Given the description of an element on the screen output the (x, y) to click on. 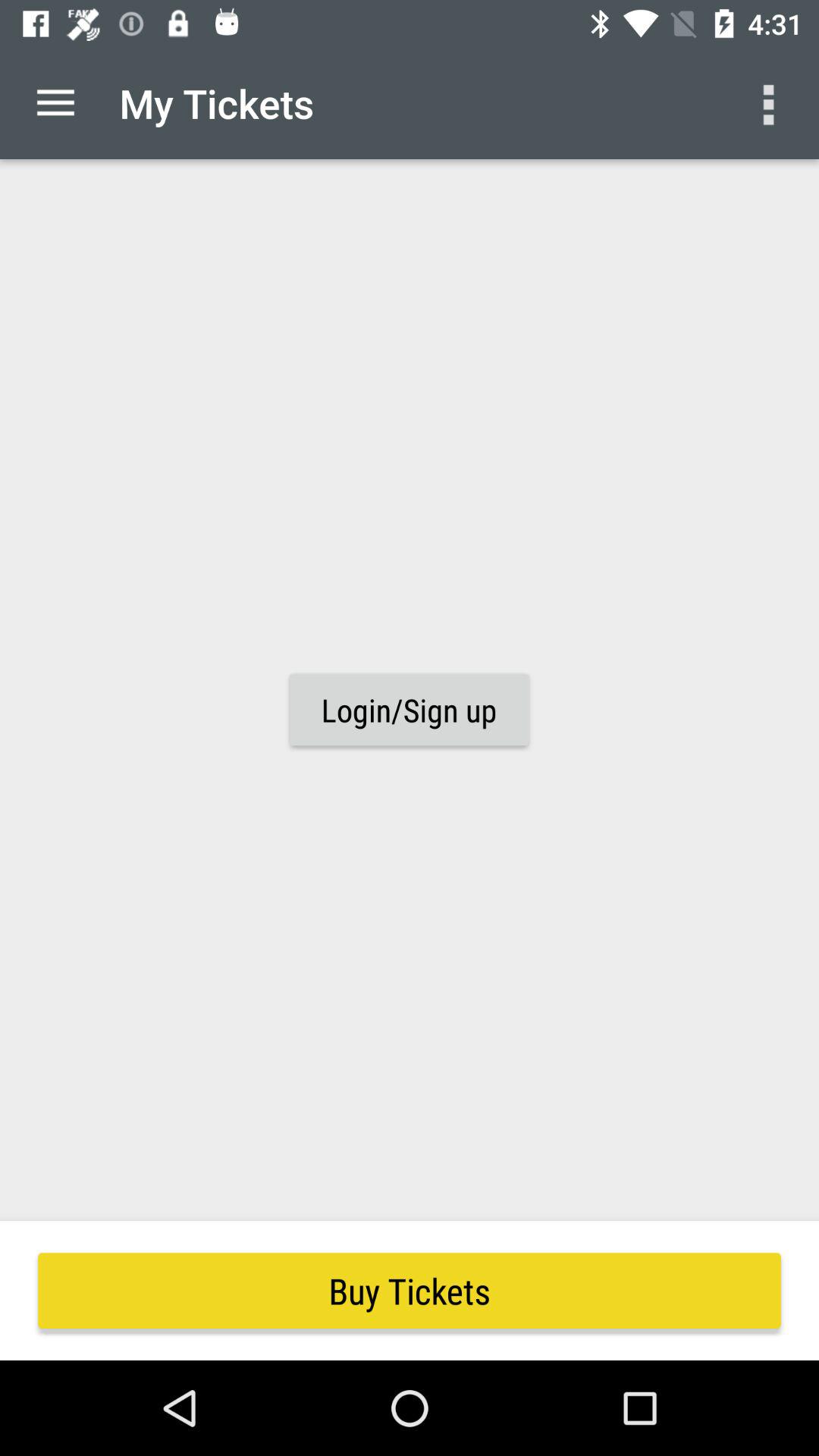
open the buy tickets (409, 1290)
